Given the description of an element on the screen output the (x, y) to click on. 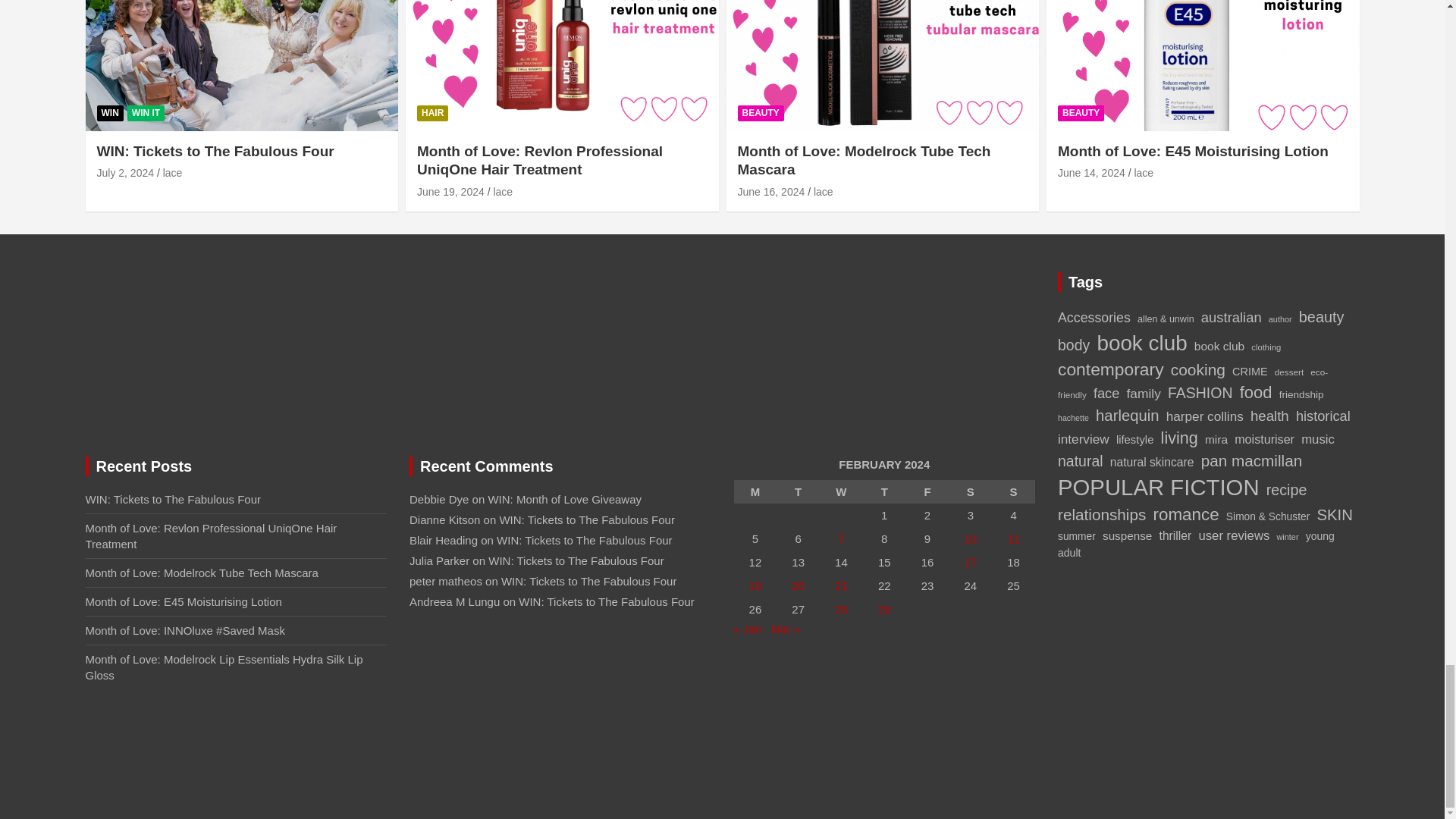
Thursday (884, 491)
Friday (927, 491)
Monday (755, 491)
Wednesday (841, 491)
Month of Love: E45 Moisturising Lotion (1091, 173)
Tuesday (797, 491)
WIN: Tickets to The Fabulous Four (125, 173)
Saturday (970, 491)
Month of Love: Modelrock Tube Tech Mascara (770, 191)
Month of Love: Revlon Professional UniqOne Hair Treatment (450, 191)
